Given the description of an element on the screen output the (x, y) to click on. 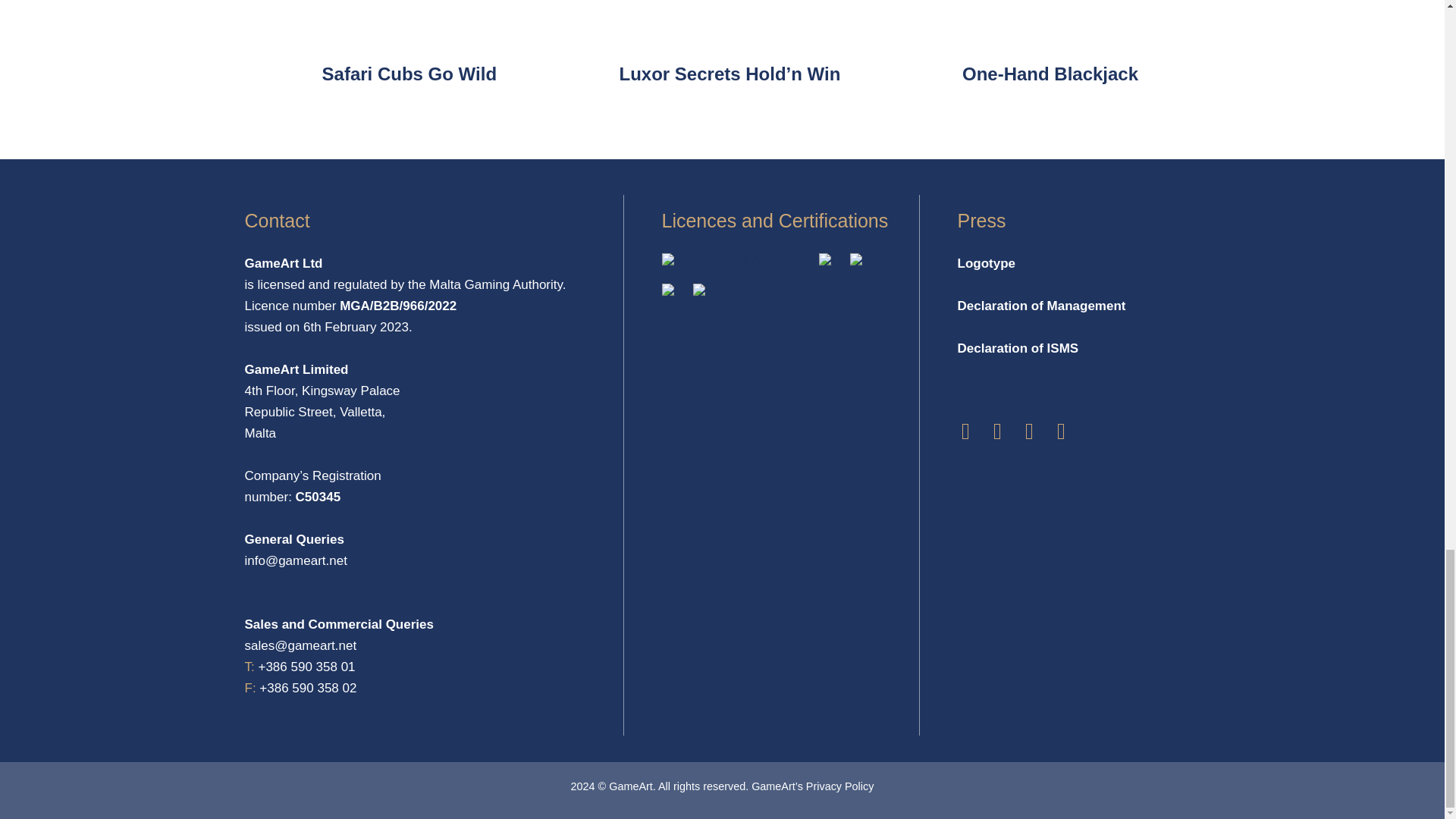
agenziadoganemonopoli.gov.it (824, 260)
One-Hand Blackjack (1050, 73)
quinel.com (698, 291)
Logotype (985, 263)
Declaration of ISMS (1017, 348)
GameArt logo download (985, 263)
Declaration of Management (1040, 305)
Safari Cubs Go Wild (408, 73)
authorisation.mga.org.mt (730, 259)
One-Hand Blackjack (1050, 73)
Safari Cubs Go Wild (408, 73)
Certificates download (666, 291)
gaminglabs.com (855, 260)
